Given the description of an element on the screen output the (x, y) to click on. 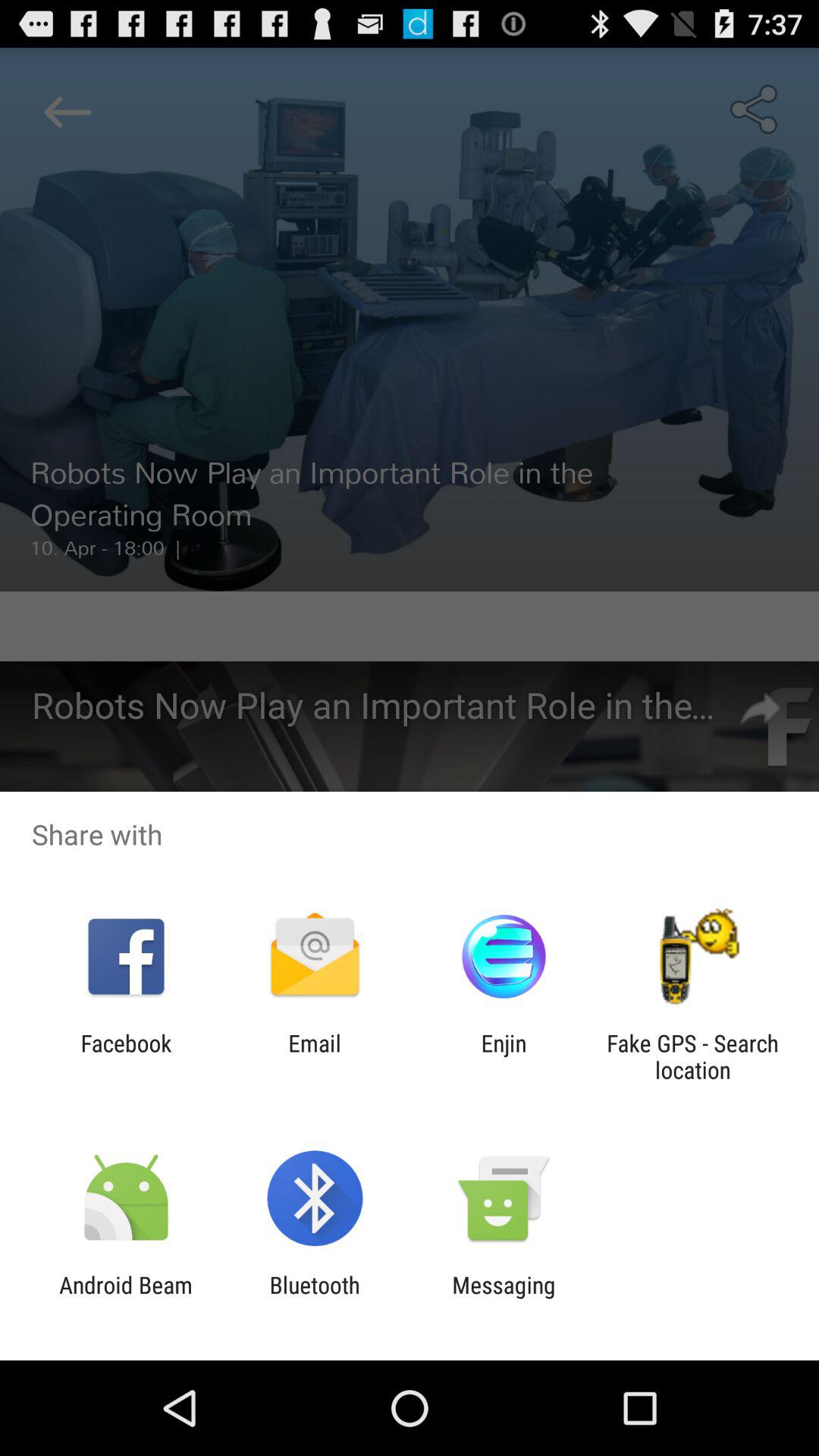
tap the icon next to the facebook (314, 1056)
